Given the description of an element on the screen output the (x, y) to click on. 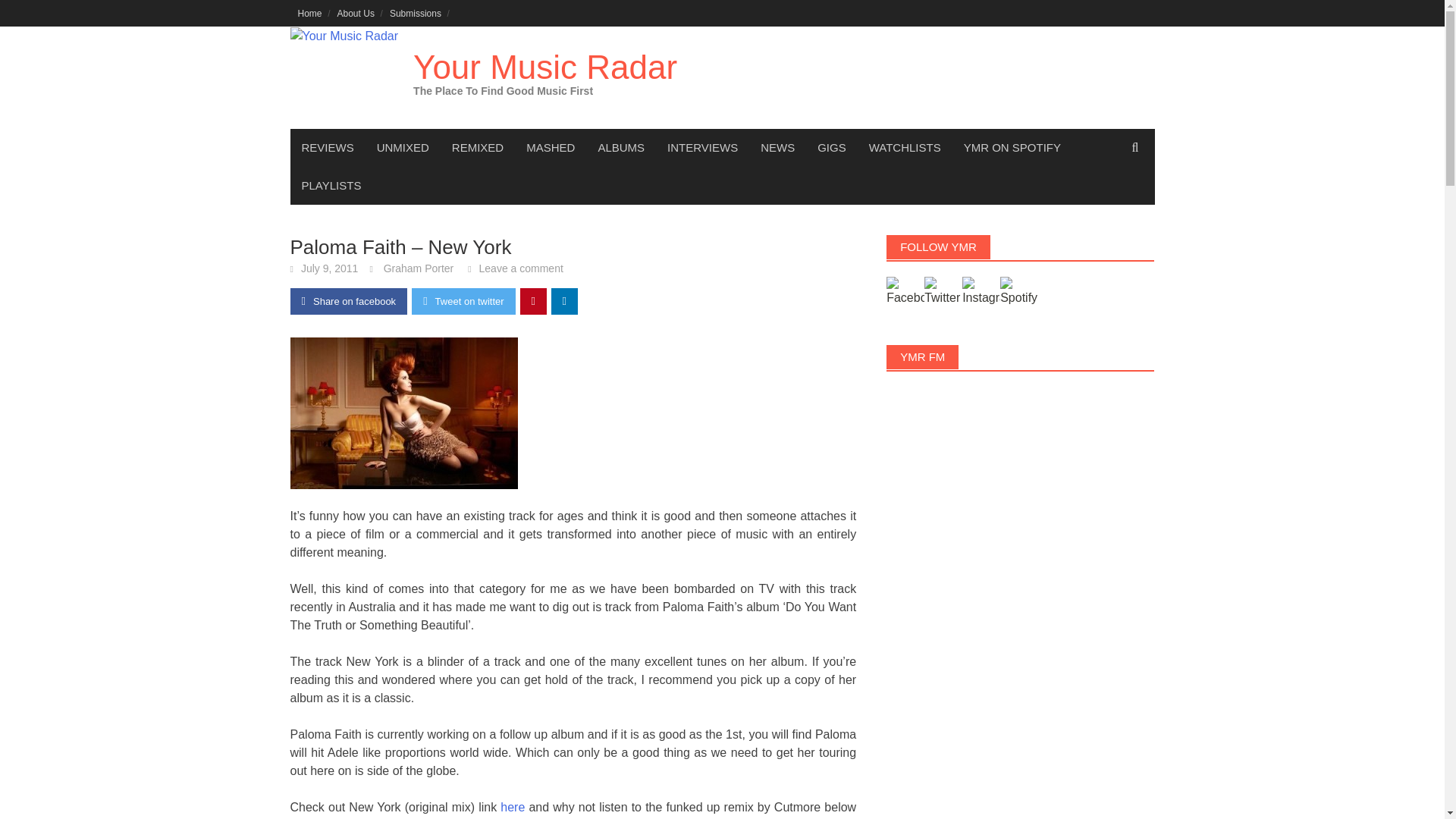
Spotify (1019, 295)
PalomaFaith-02-big (402, 412)
Share on facebook (348, 301)
REMIXED (478, 147)
PLAYLISTS (330, 185)
July 9, 2011 (329, 268)
INTERVIEWS (702, 147)
Your Music Radar (545, 66)
Leave a comment (521, 268)
UNMIXED (403, 147)
